Given the description of an element on the screen output the (x, y) to click on. 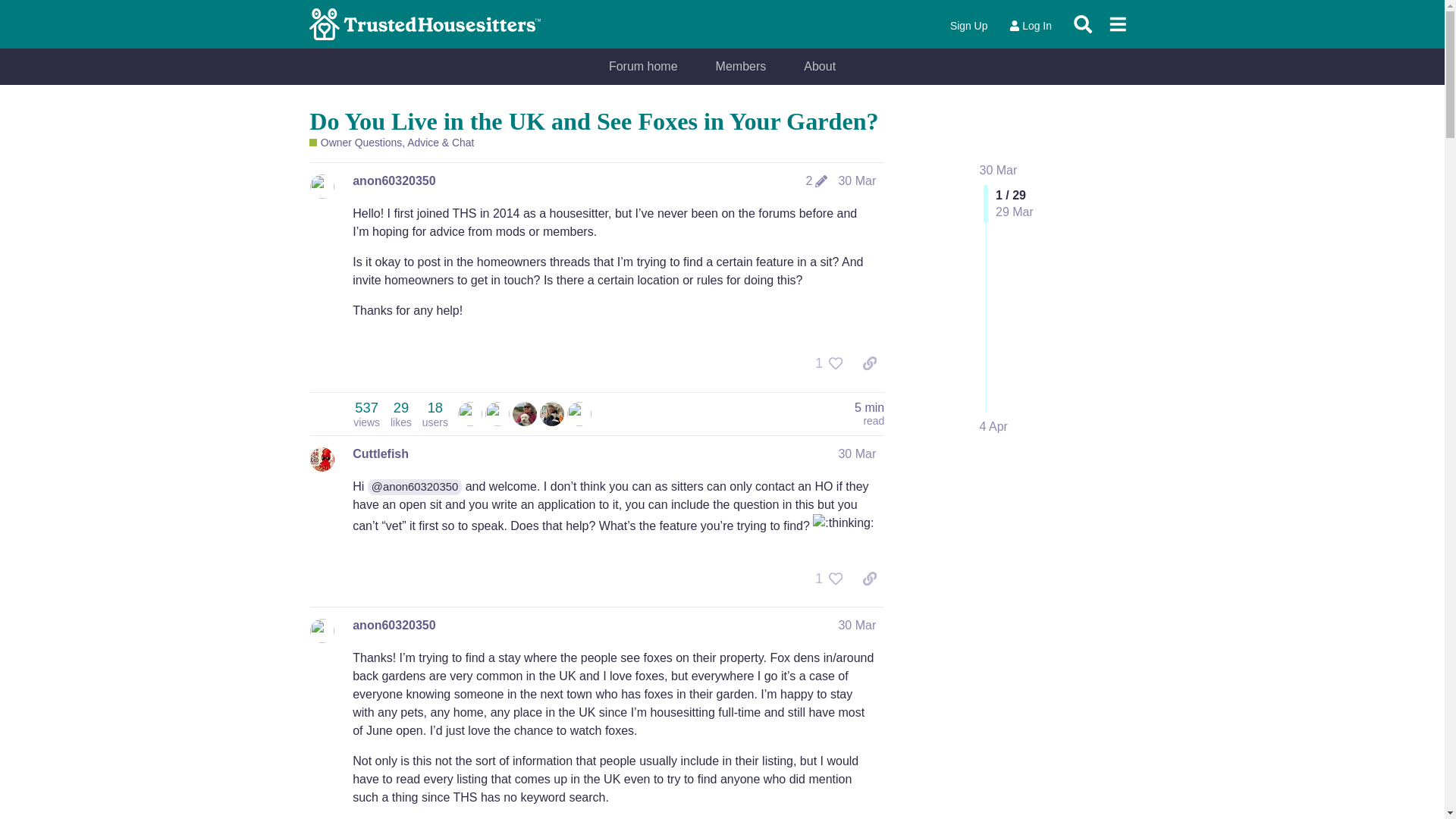
anon60320350 (393, 625)
30 Mar (857, 625)
4 Apr (993, 426)
Jump to the last post (993, 426)
Maggie8K (496, 413)
Smiley (524, 413)
About (819, 66)
Log In (1030, 25)
Smiley (524, 412)
Do You Live in the UK and See Foxes in Your Garden? (592, 121)
